Given the description of an element on the screen output the (x, y) to click on. 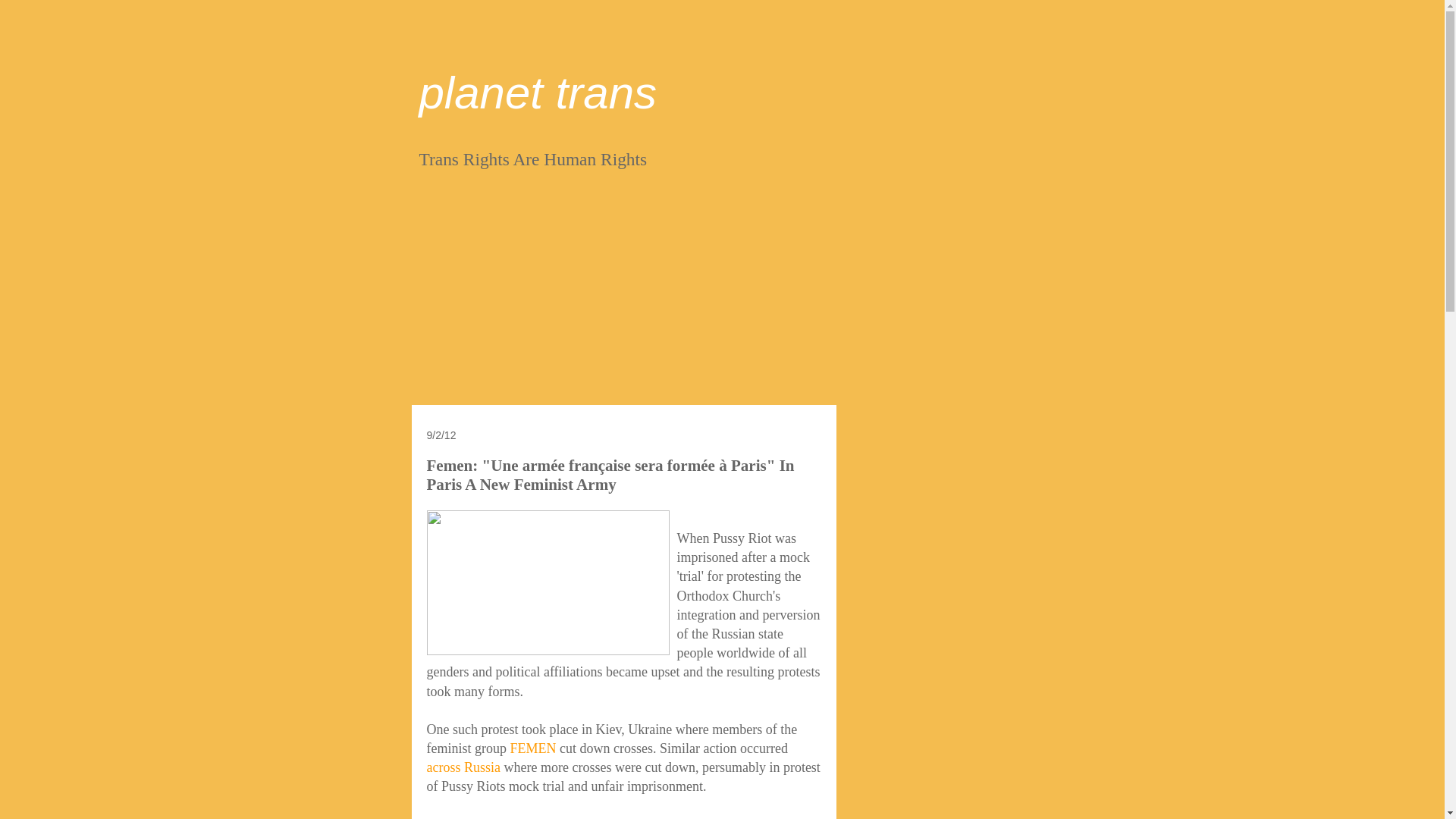
planet trans (537, 92)
FEMEN (532, 748)
across Russia (463, 767)
